Given the description of an element on the screen output the (x, y) to click on. 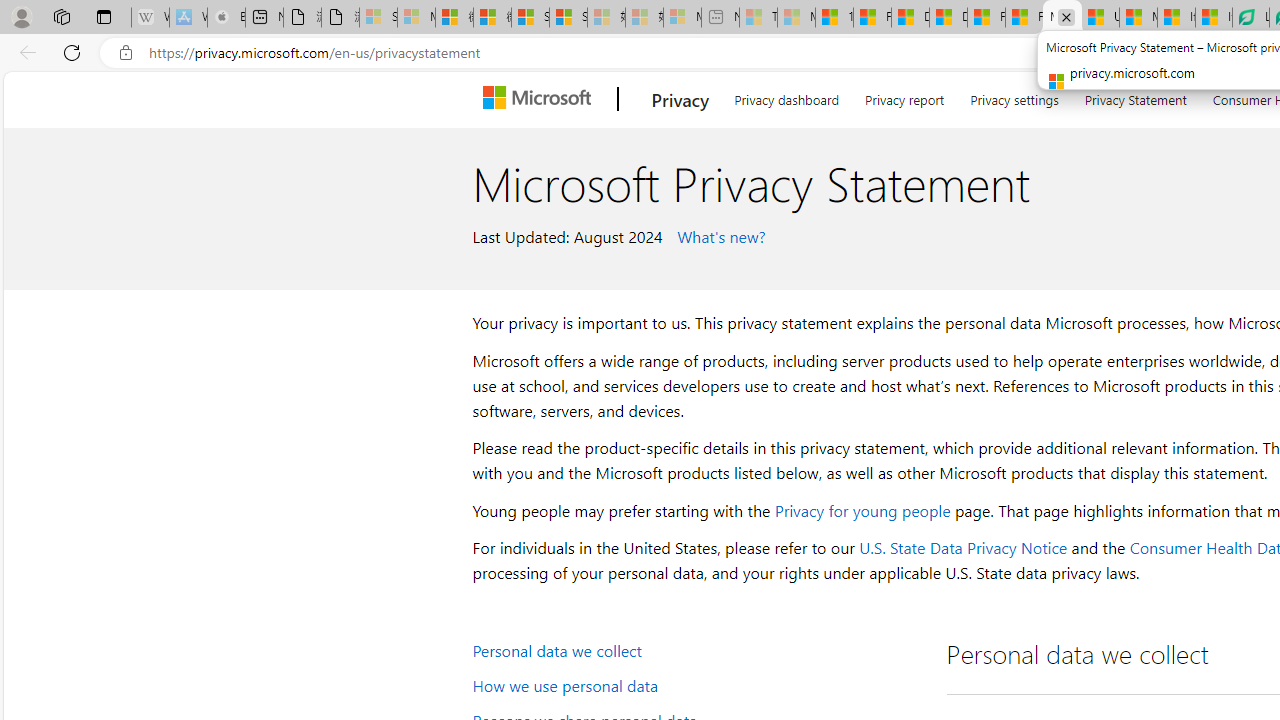
Sign in to your Microsoft account - Sleeping (377, 17)
Privacy dashboard (786, 96)
Privacy Statement (1135, 96)
Privacy settings (1014, 96)
Marine life - MSN - Sleeping (796, 17)
Food and Drink - MSN (871, 17)
 What's new? (718, 235)
LendingTree - Compare Lenders (1250, 17)
